Given the description of an element on the screen output the (x, y) to click on. 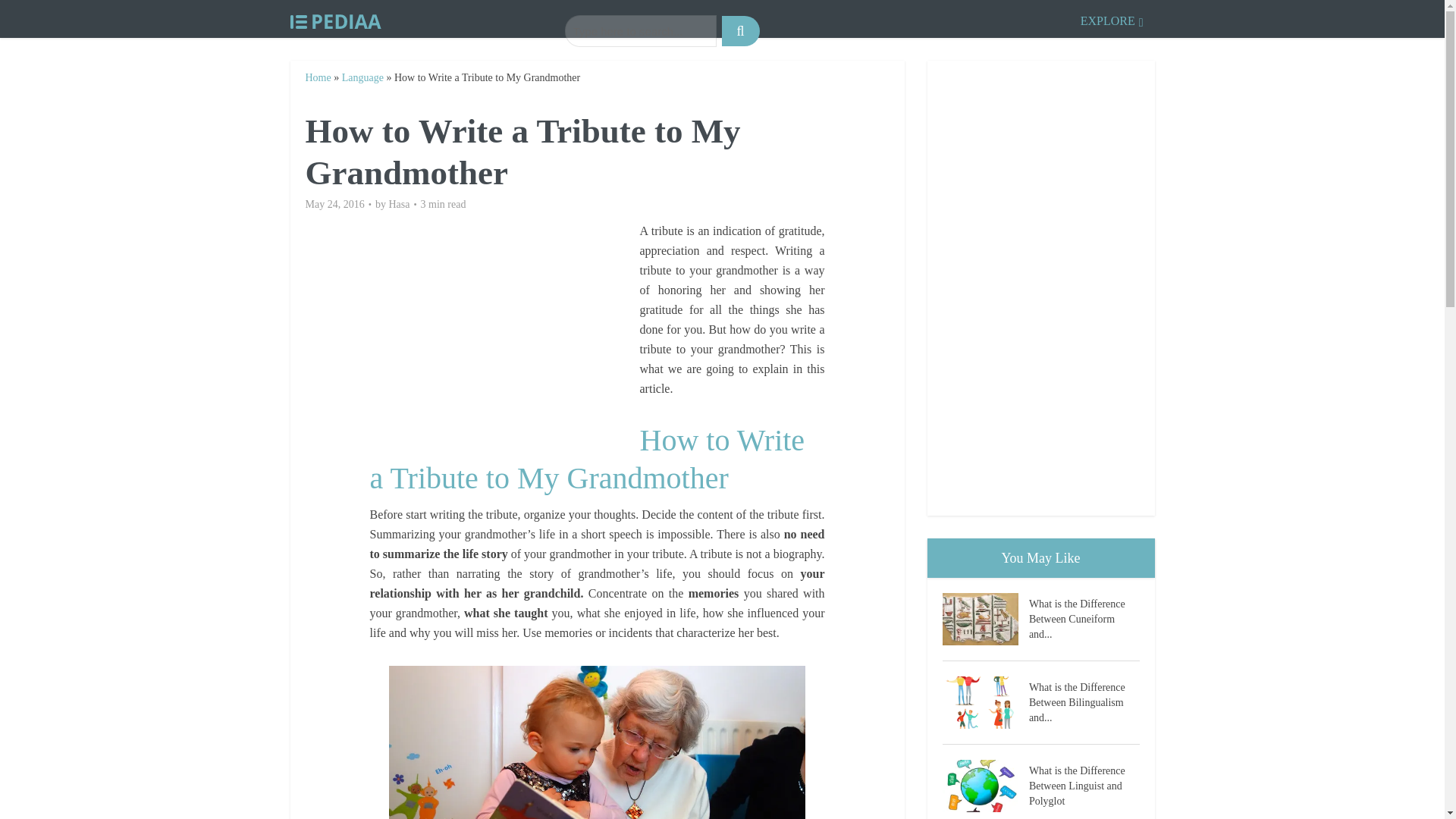
Hasa (398, 204)
Home (317, 77)
What is the Difference Between Cuneiform and Hieroglyphics (1084, 617)
What is the Difference Between Bilingualism and Diglossia (984, 702)
What is the Difference Between Bilingualism and Diglossia (1084, 700)
Type here to search... (640, 30)
Language (363, 77)
What is the Difference Between Linguist and Polyglot (1084, 784)
What is the Difference Between Bilingualism and... (1084, 700)
Pediaa.Com (334, 18)
Advertisement (504, 327)
EXPLORE (1111, 18)
What is the Difference Between Cuneiform and Hieroglyphics (984, 618)
Type here to search... (640, 30)
What is the Difference Between Linguist and Polyglot (984, 786)
